Given the description of an element on the screen output the (x, y) to click on. 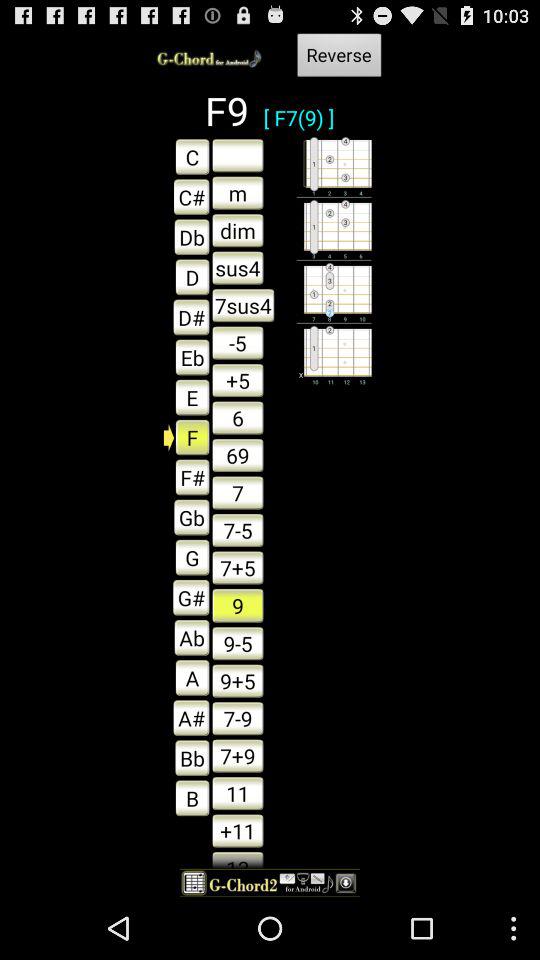
turn off the item above the 7 item (237, 455)
